Given the description of an element on the screen output the (x, y) to click on. 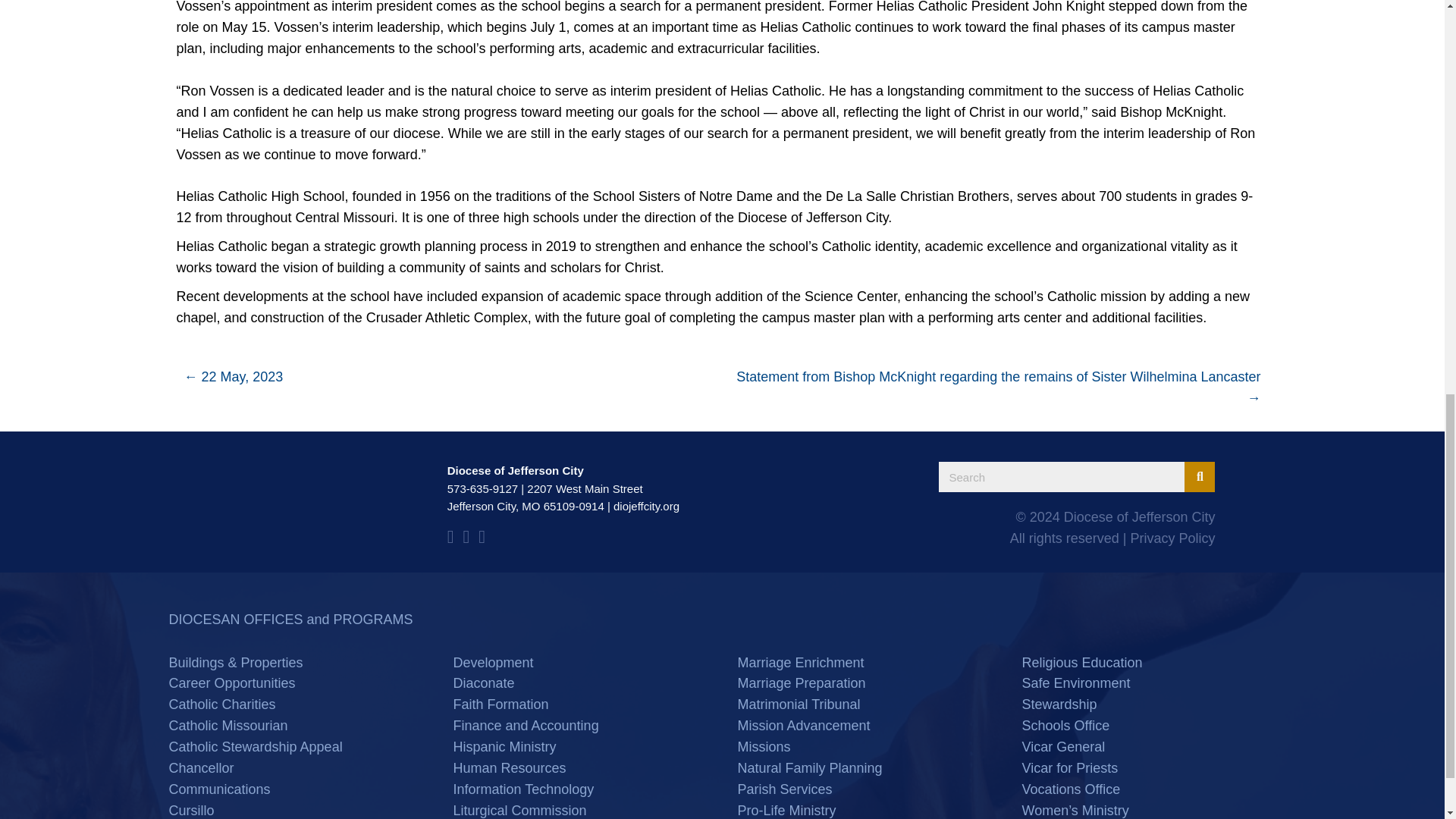
DioJC Logo Web 2021 1CW (285, 505)
Search (1062, 476)
